Given the description of an element on the screen output the (x, y) to click on. 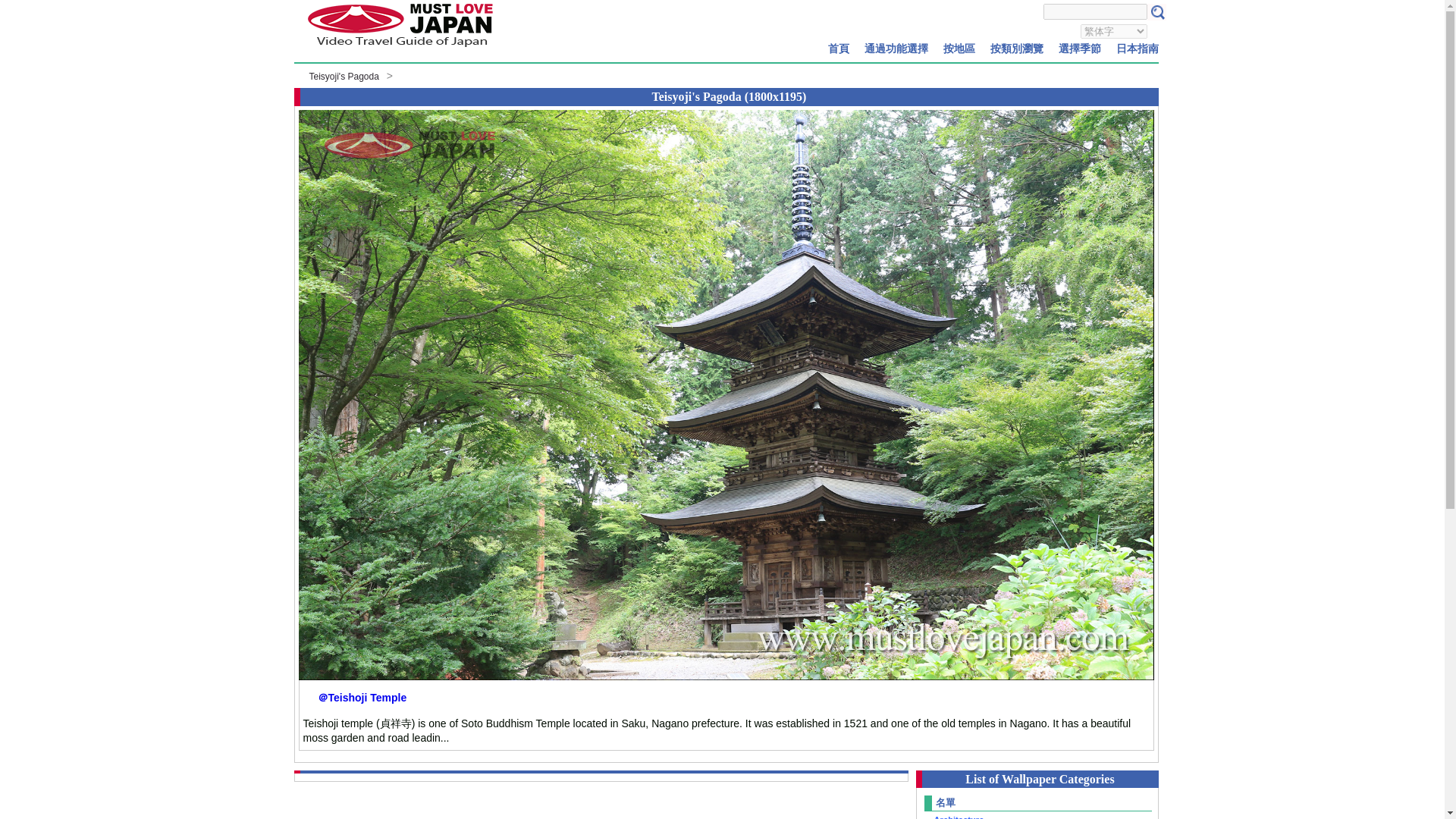
Search (1156, 12)
MustLoveJapan (399, 49)
